Given the description of an element on the screen output the (x, y) to click on. 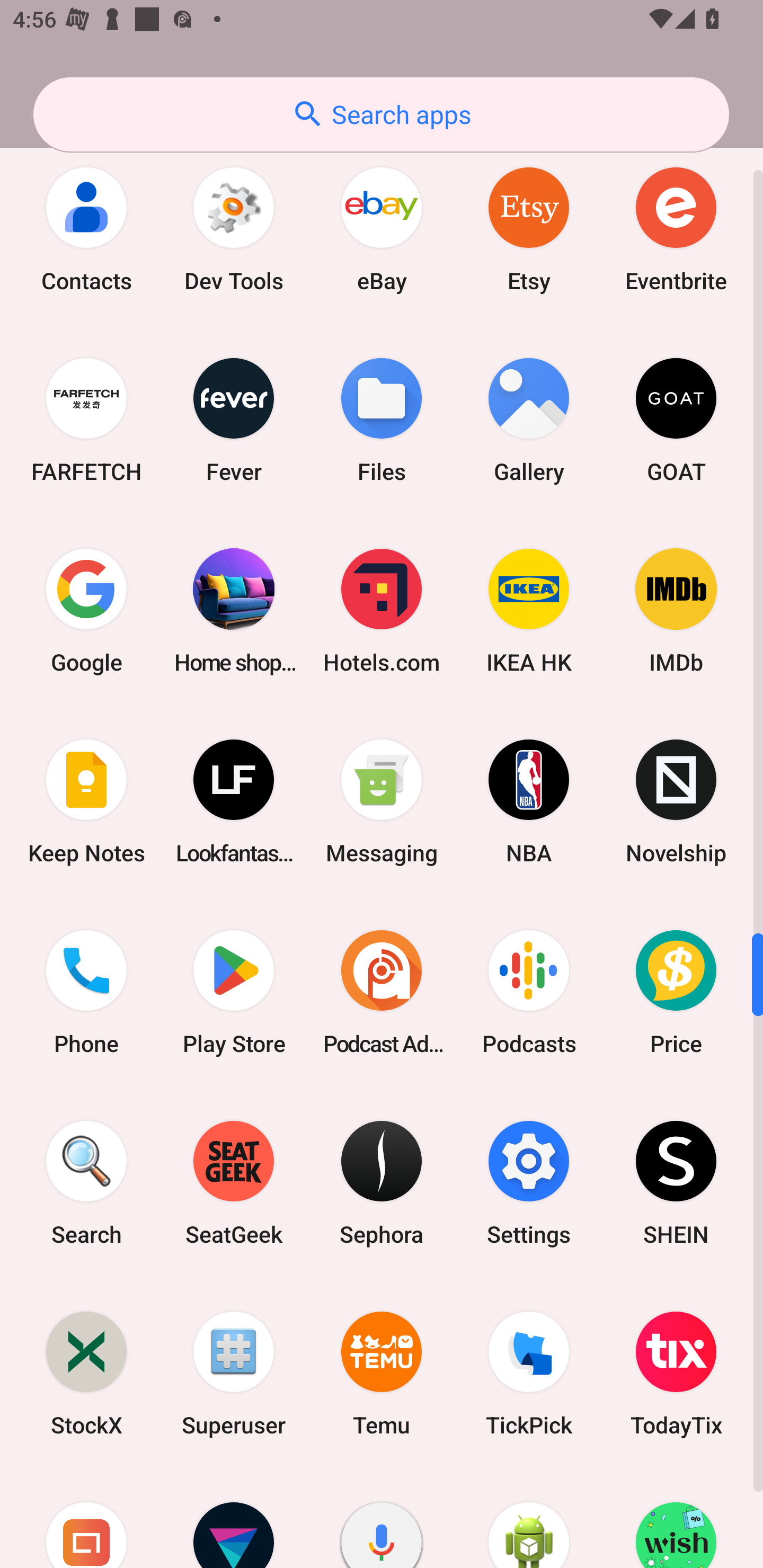
  Search apps (381, 114)
Contacts (86, 228)
Dev Tools (233, 228)
eBay (381, 228)
Etsy (528, 228)
Eventbrite (676, 228)
FARFETCH (86, 419)
Fever (233, 419)
Files (381, 419)
Gallery (528, 419)
GOAT (676, 419)
Google (86, 610)
Home shopping (233, 610)
Hotels.com (381, 610)
IKEA HK (528, 610)
IMDb (676, 610)
Keep Notes (86, 800)
Lookfantastic (233, 800)
Messaging (381, 800)
NBA (528, 800)
Novelship (676, 800)
Phone (86, 992)
Play Store (233, 992)
Podcast Addict (381, 992)
Podcasts (528, 992)
Price (676, 992)
Search (86, 1182)
SeatGeek (233, 1182)
Sephora (381, 1182)
Settings (528, 1182)
SHEIN (676, 1182)
StockX (86, 1373)
Superuser (233, 1373)
Temu (381, 1373)
TickPick (528, 1373)
TodayTix (676, 1373)
Urban Ladder (86, 1518)
Vivid Seats (233, 1518)
Voice Search (381, 1518)
WebView Browser Tester (528, 1518)
Wish (676, 1518)
